Given the description of an element on the screen output the (x, y) to click on. 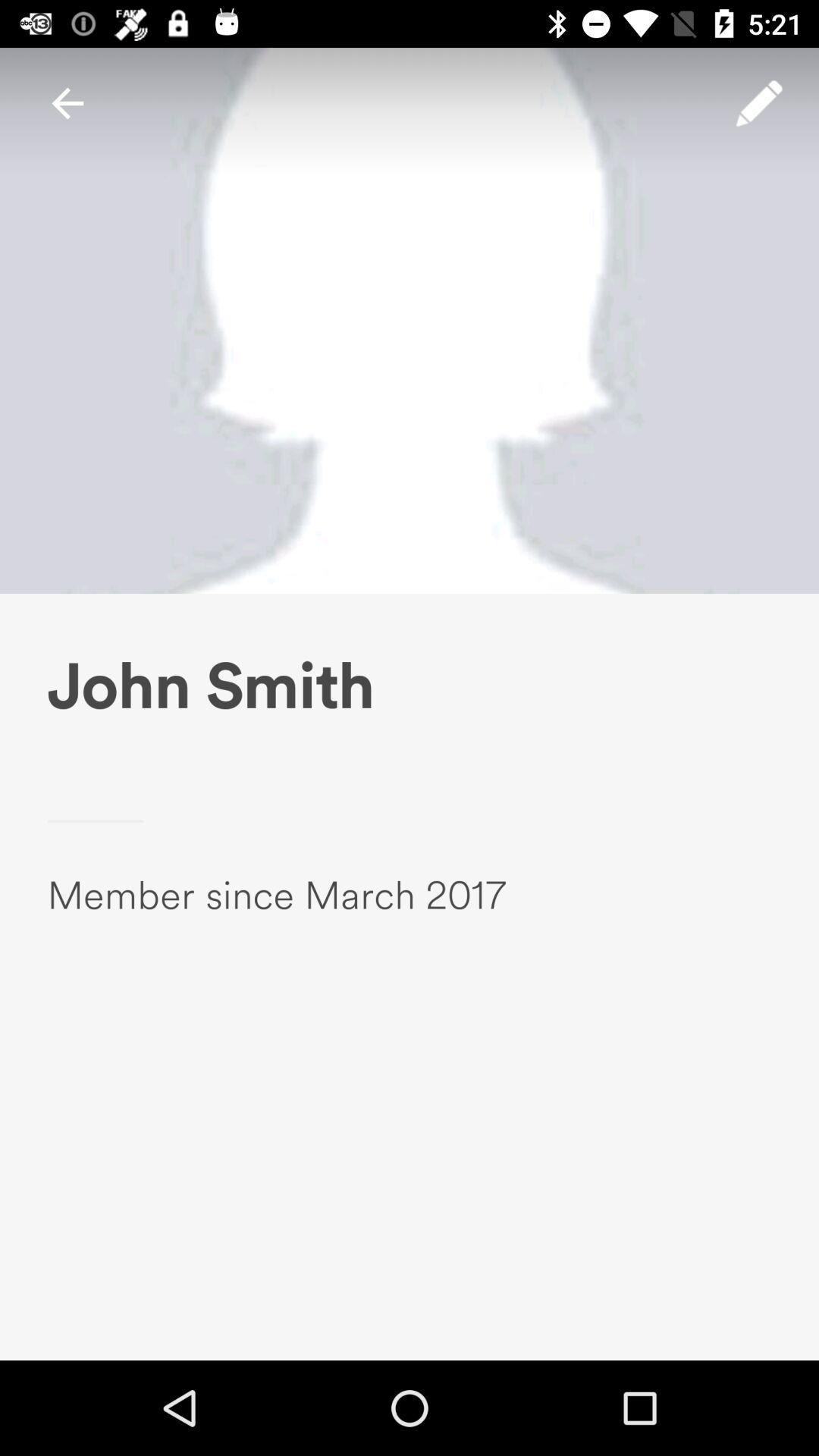
click item above john smith icon (67, 103)
